Given the description of an element on the screen output the (x, y) to click on. 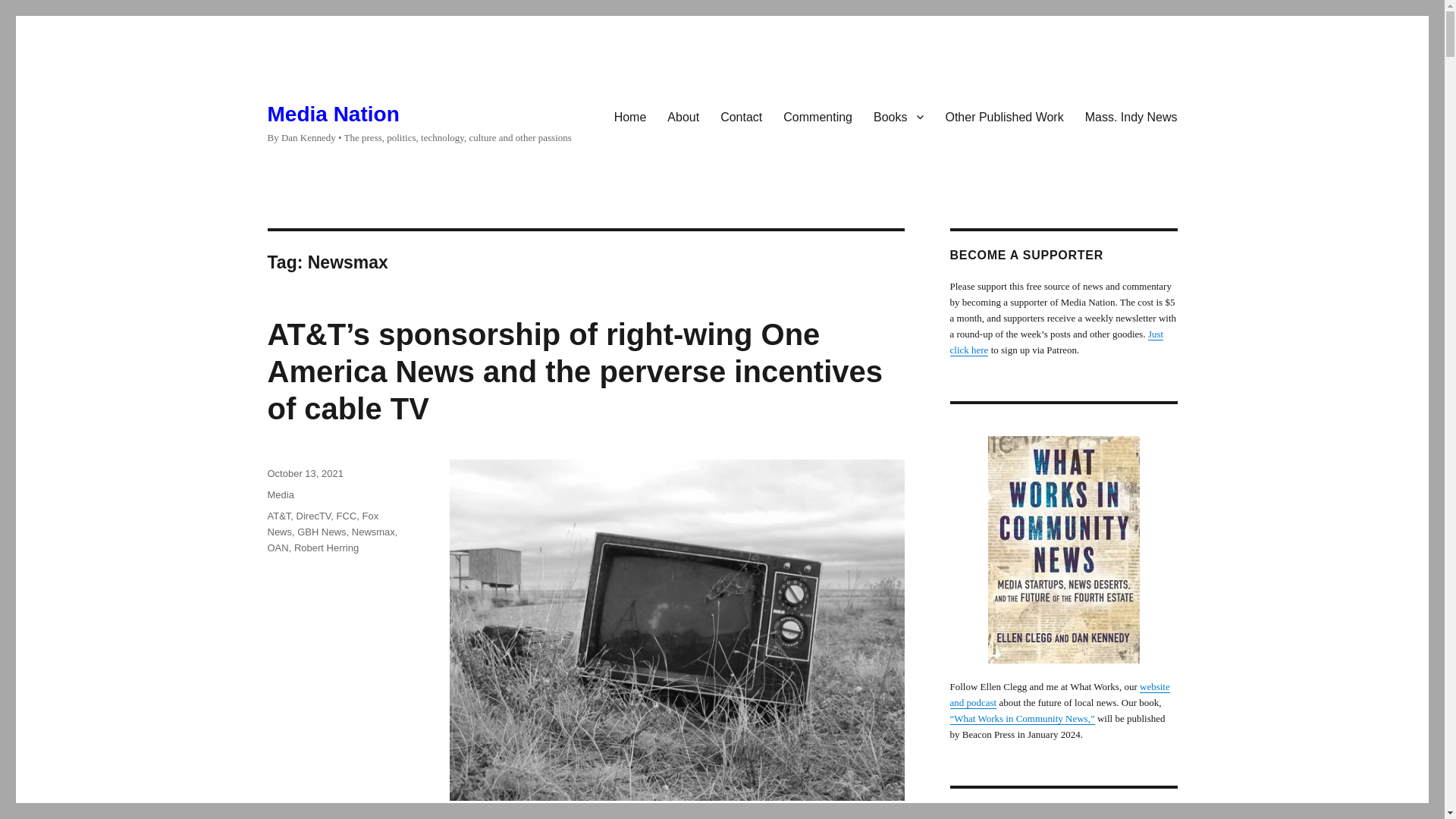
OAN (277, 547)
Books (898, 116)
FCC (346, 515)
Commenting (818, 116)
Photo (459, 813)
Media (280, 494)
Home (631, 116)
October 13, 2021 (304, 473)
Mass. Indy News (1131, 116)
About (683, 116)
